Given the description of an element on the screen output the (x, y) to click on. 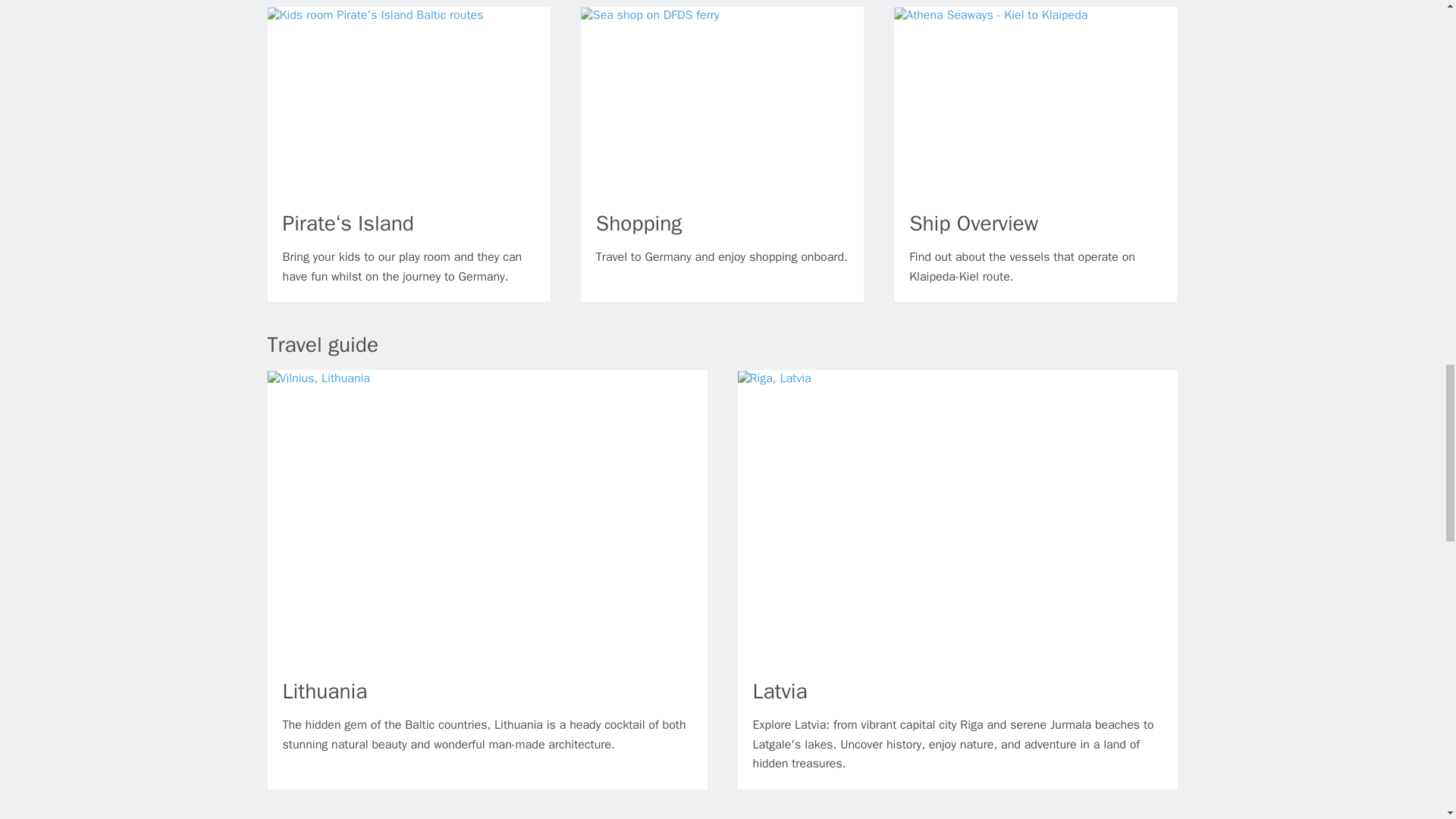
Kids room Pirate's Island Baltic routes (374, 14)
Riga, Latvia (773, 377)
Athena Seaways - Kiel to Klaipeda (990, 14)
Sea shop on DFDS ferry  (649, 14)
Vilnius city rooftop view  (317, 377)
